Given the description of an element on the screen output the (x, y) to click on. 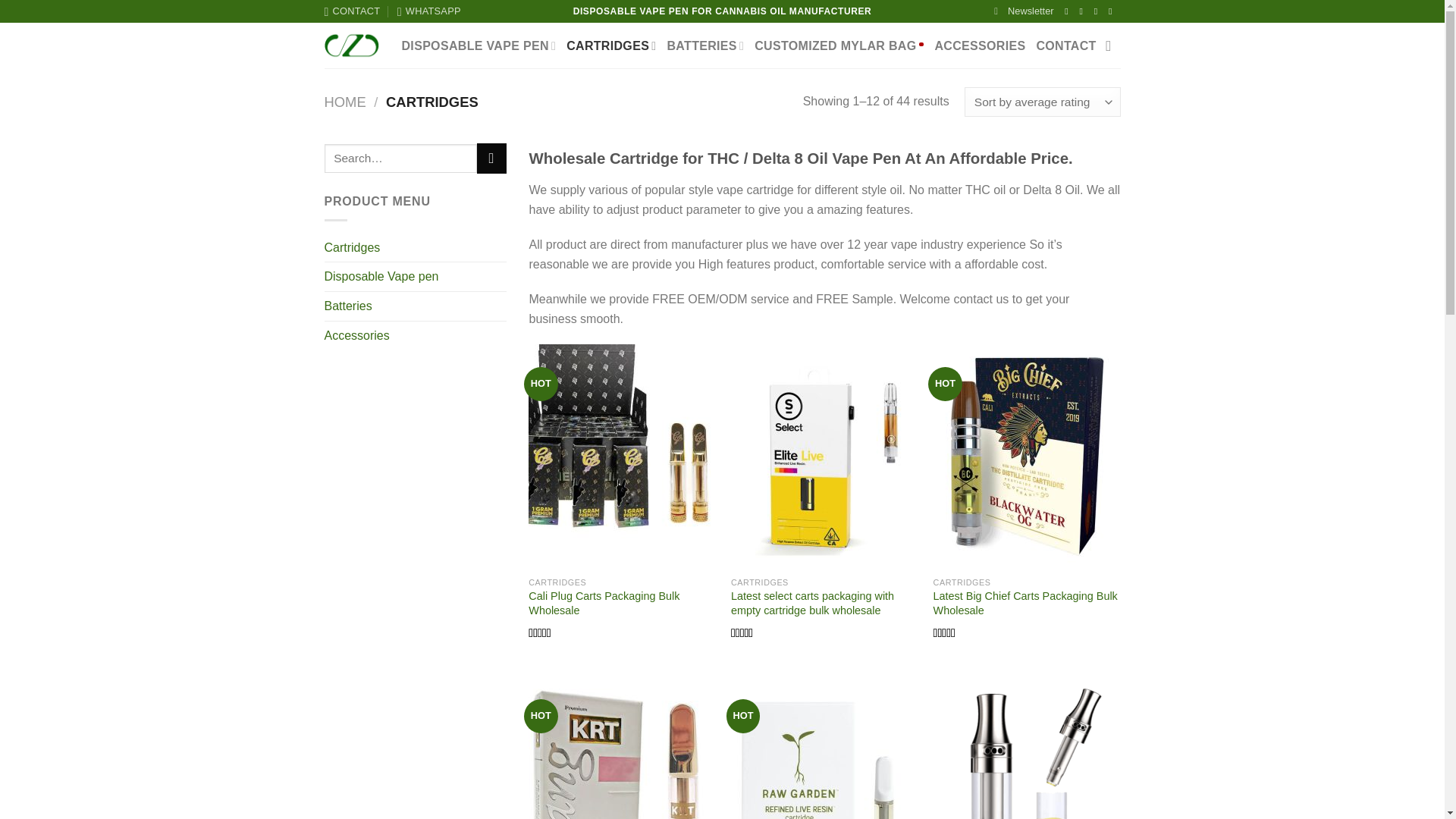
CONTACT (352, 11)
Newsletter (1023, 11)
WHATSAPP (429, 11)
DISPOSABLE VAPE PEN (478, 45)
Sign up for Newsletter (1023, 11)
